Given the description of an element on the screen output the (x, y) to click on. 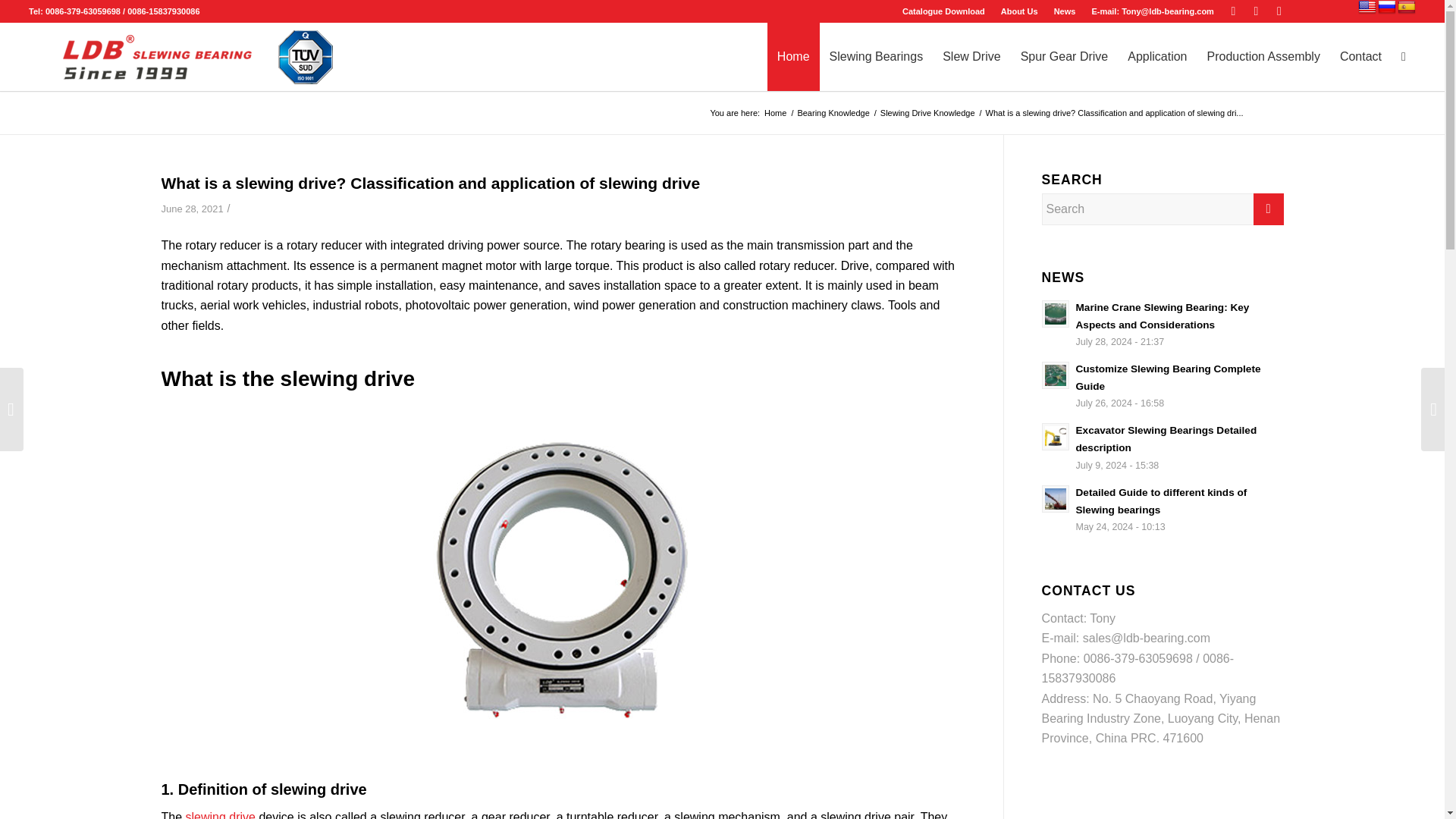
LDB (775, 112)
Tumblr (1279, 11)
Marine Crane Slewing Bearing: Key Aspects and Considerations (1163, 324)
Slew Drive (971, 56)
Twitter (1233, 11)
Catalogue Download (943, 11)
Production Assembly (1262, 56)
Slewing Bearings (876, 56)
Application (1157, 56)
